Given the description of an element on the screen output the (x, y) to click on. 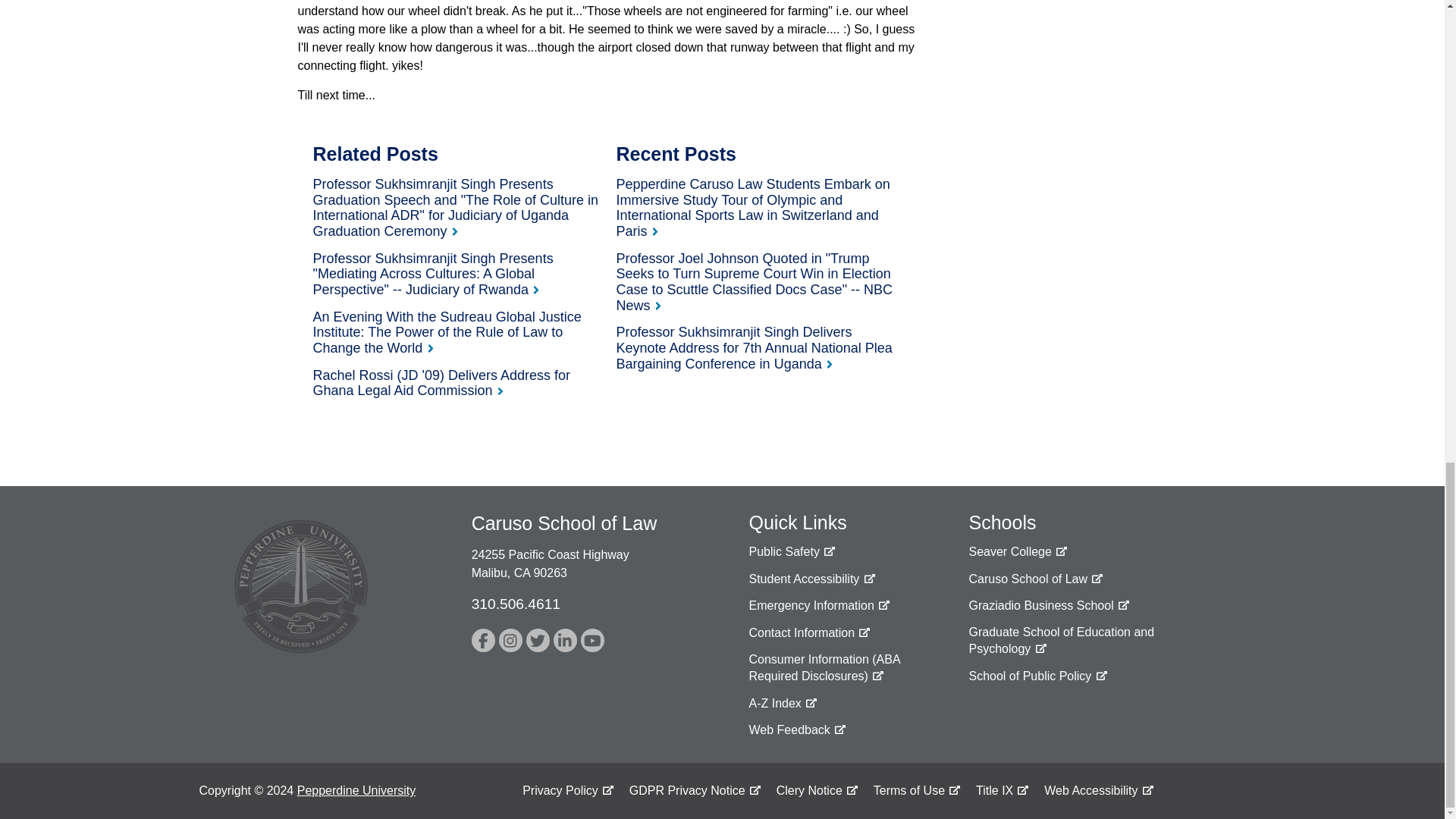
Link to External Site (510, 639)
Link to External Site (564, 639)
Link to External Site (1037, 676)
Link to External Site (483, 639)
Link to External Site (1048, 605)
Link to External Site (811, 579)
Call (515, 603)
Link to External Site (1091, 640)
Link to External Site (818, 605)
Link to External Site (537, 639)
Go to Caruso School of Law site (1035, 579)
Link to External Site (1017, 551)
Link to External Site (790, 551)
Link to External Site (796, 729)
